Given the description of an element on the screen output the (x, y) to click on. 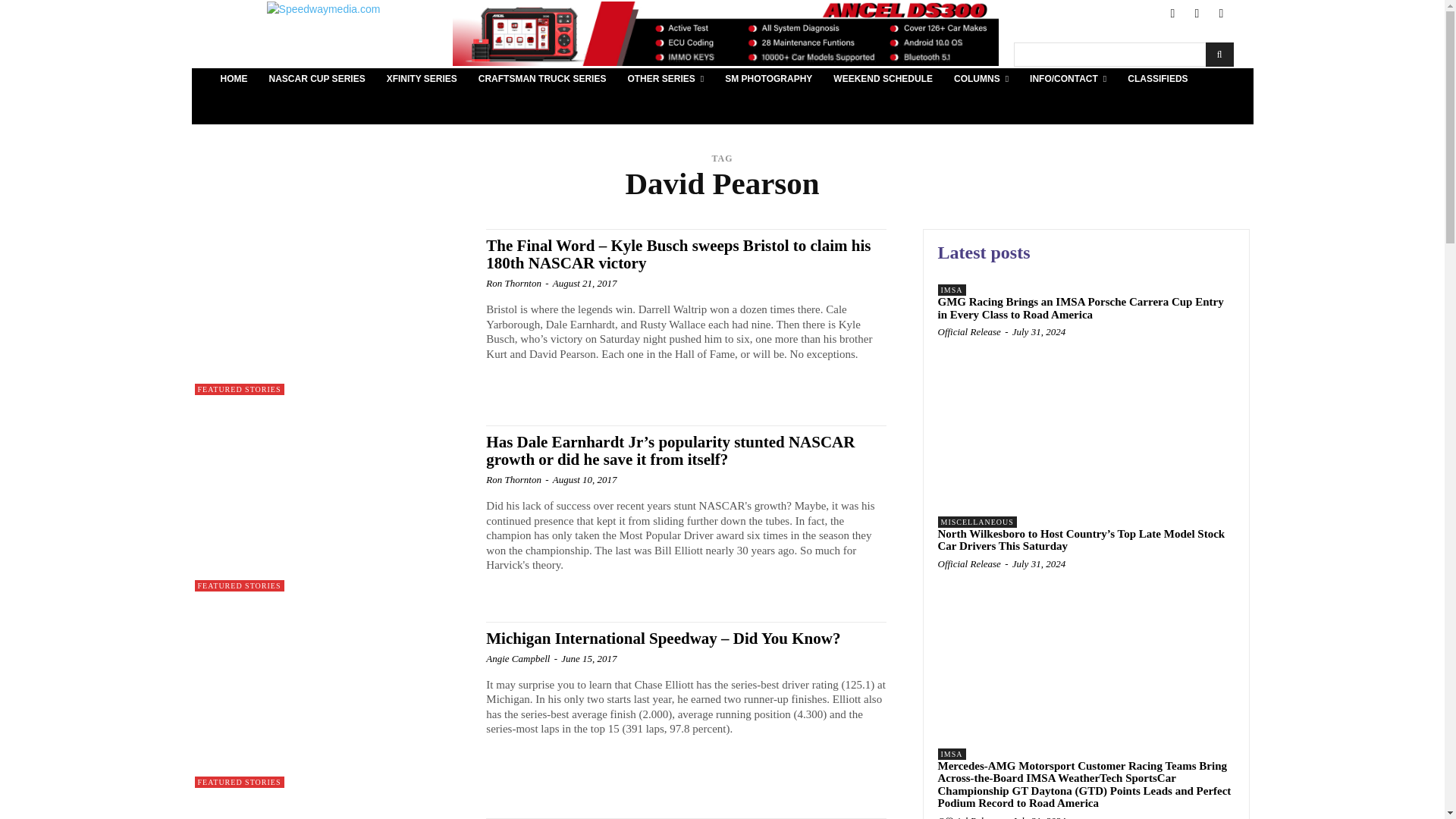
CRAFTSMAN TRUCK SERIES (542, 78)
Twitter (1196, 13)
OTHER SERIES (664, 79)
NASCAR CUP SERIES (316, 78)
XFINITY SERIES (421, 78)
Instagram (1220, 13)
HOME (233, 78)
Facebook (1172, 13)
